Given the description of an element on the screen output the (x, y) to click on. 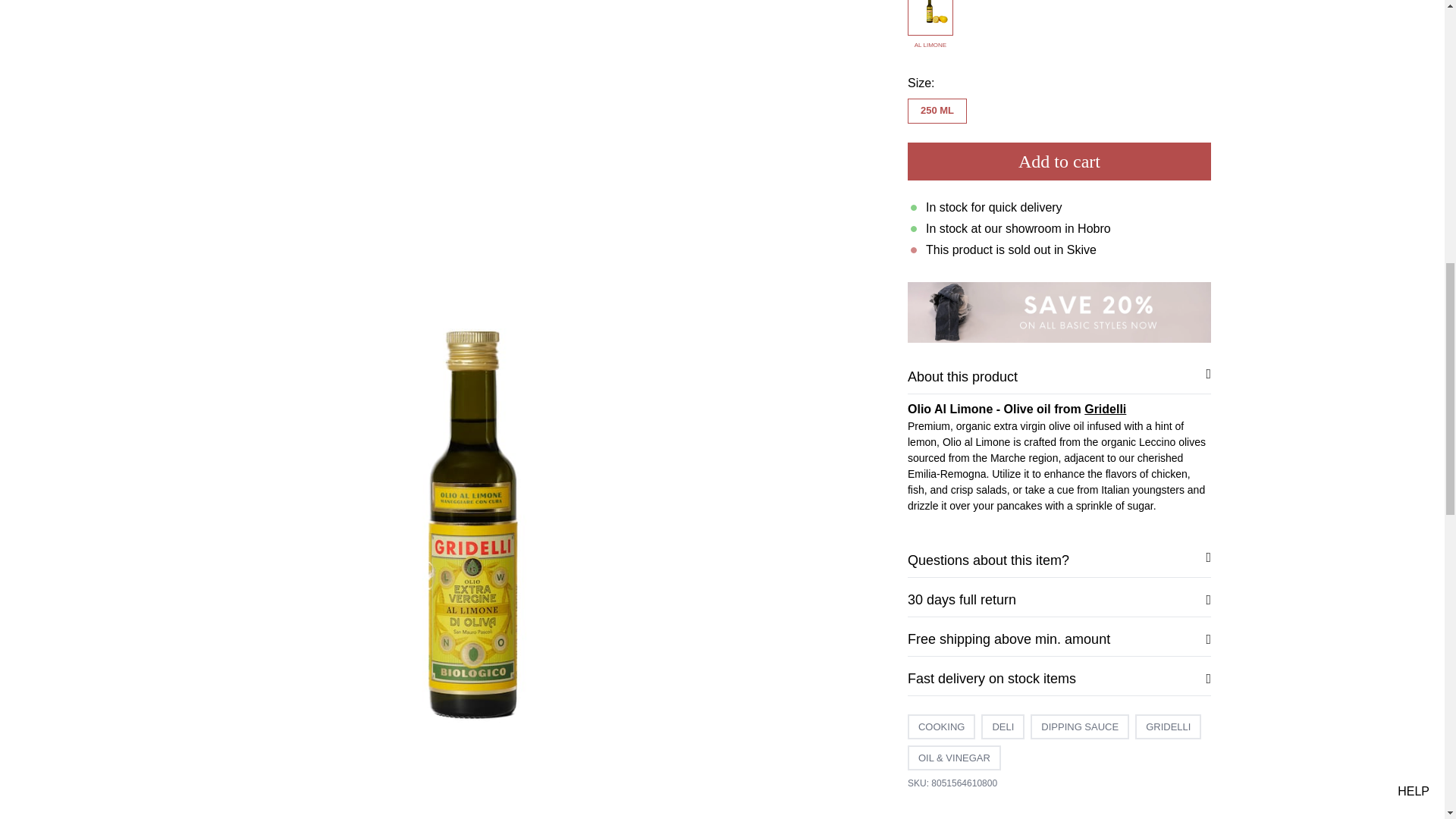
DELI (1003, 283)
DIPPING SAUCE (1079, 283)
GRIDELLI (1168, 283)
Fast delivery on stock items (1059, 235)
Free shipping above min. amount (1059, 195)
COOKING (941, 283)
30 days full return (1059, 156)
